Given the description of an element on the screen output the (x, y) to click on. 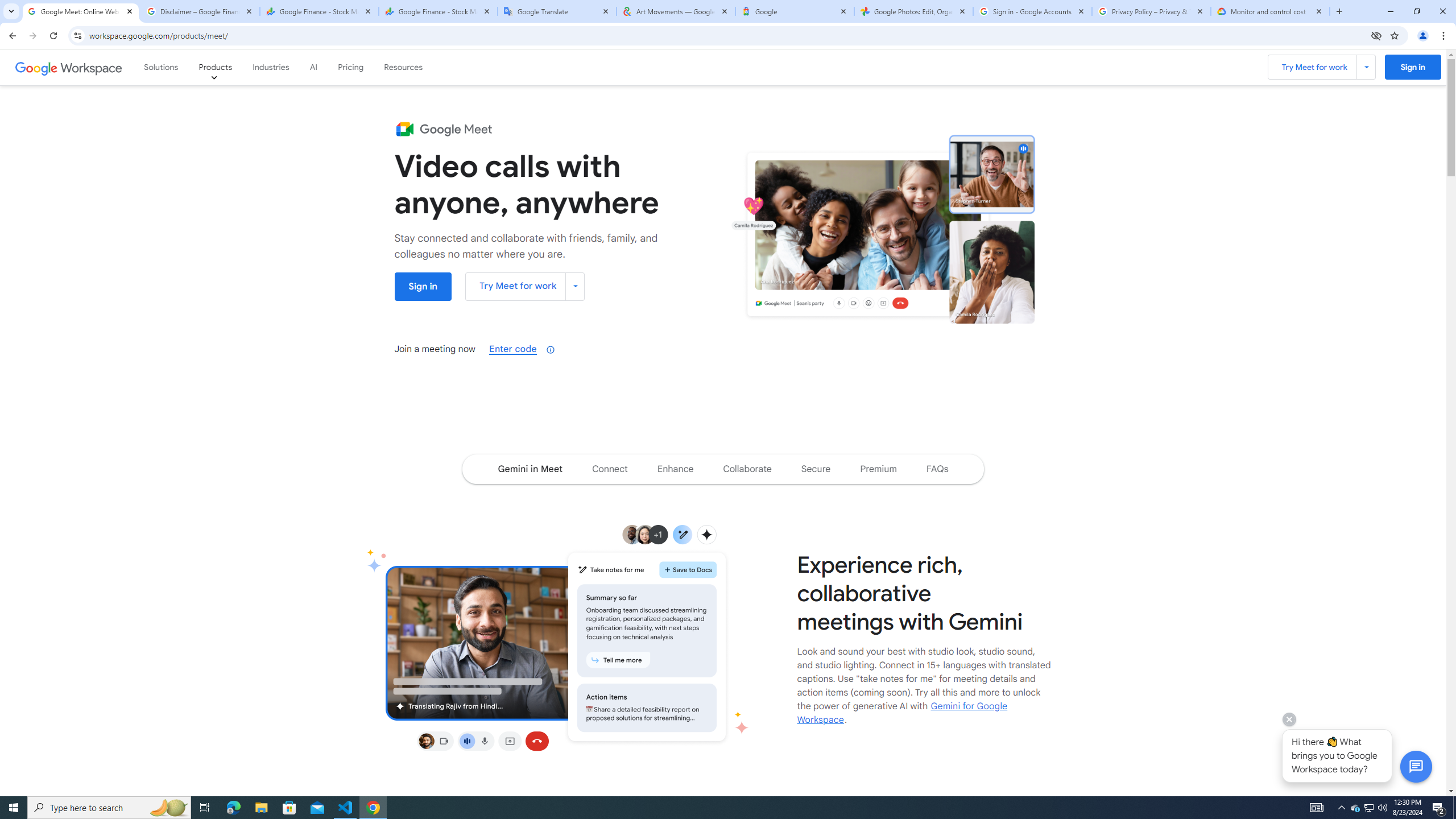
Sign in - Google Accounts (1032, 11)
Products (215, 67)
Sign into Google Meet  (423, 285)
Enter code (513, 348)
Resources (403, 67)
